Given the description of an element on the screen output the (x, y) to click on. 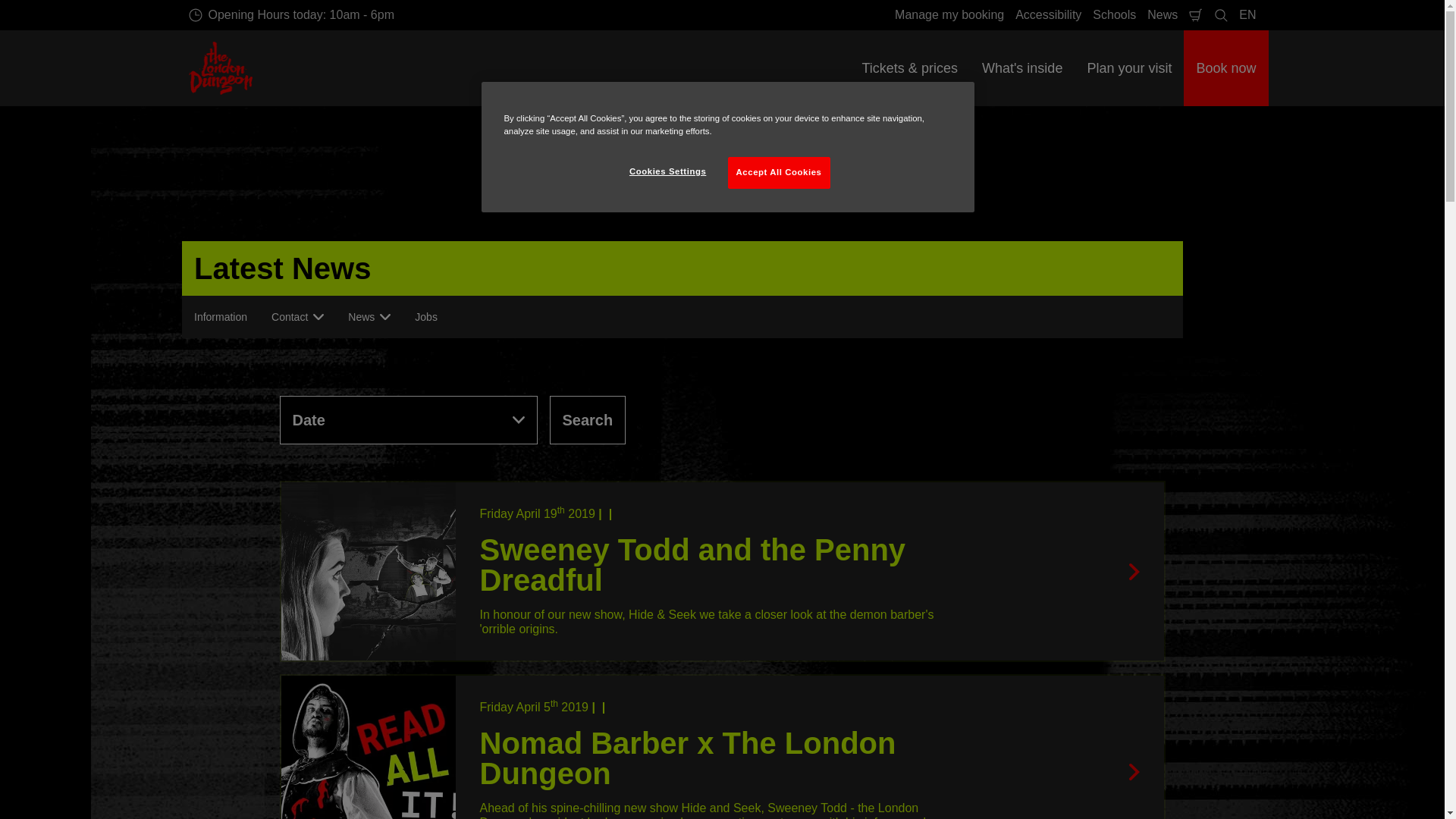
What's inside (1021, 68)
Search (1220, 14)
Shopping Cart (1196, 14)
Check out (1196, 14)
Select Language (1246, 14)
Opening Hours today: 10am - 6pm (1246, 14)
Search (290, 14)
Schools (587, 419)
News (1114, 14)
Accessibility (1161, 14)
Manage my booking (1047, 14)
